Given the description of an element on the screen output the (x, y) to click on. 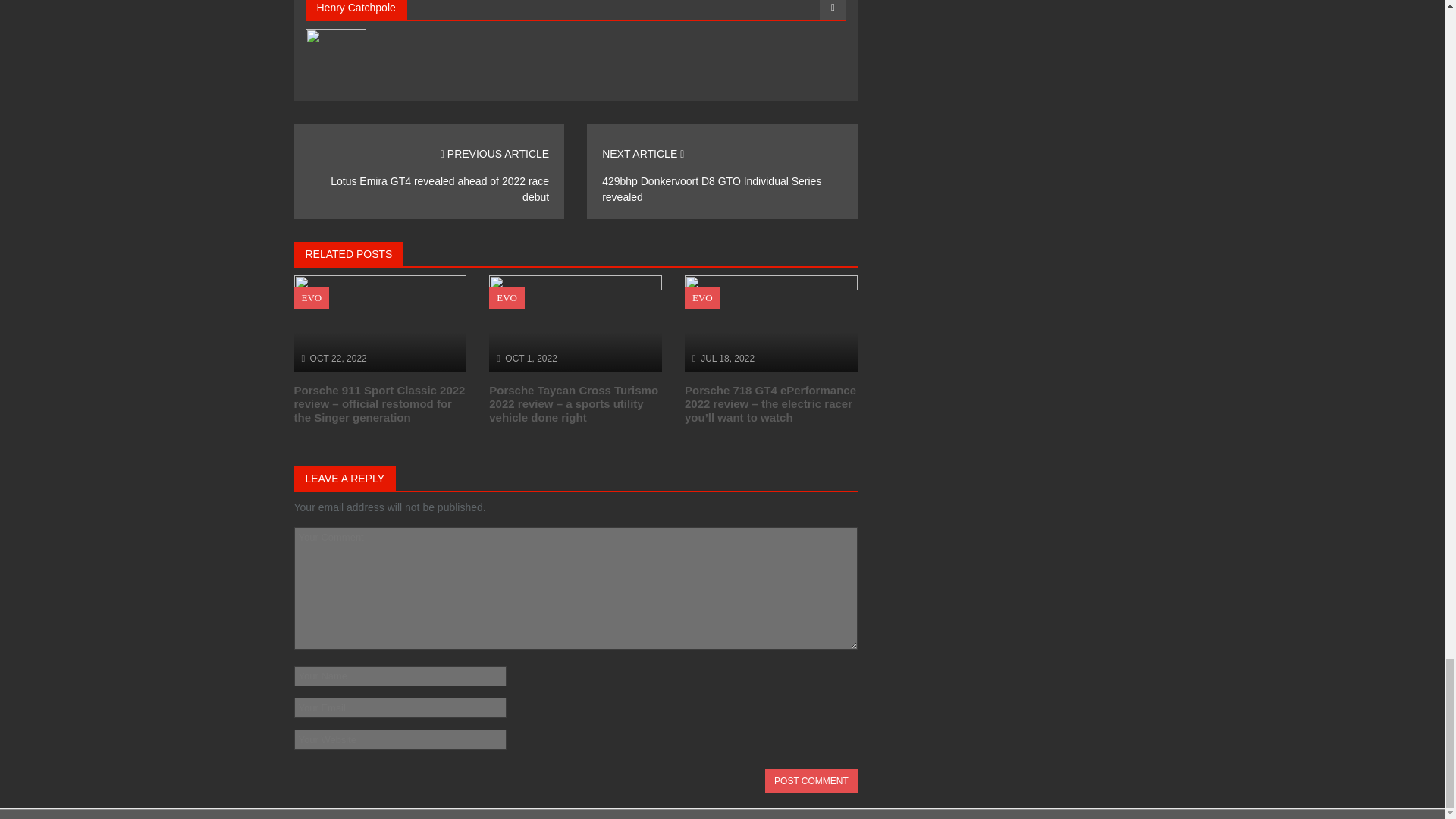
Post Comment (811, 781)
Henry Catchpole (356, 7)
